Given the description of an element on the screen output the (x, y) to click on. 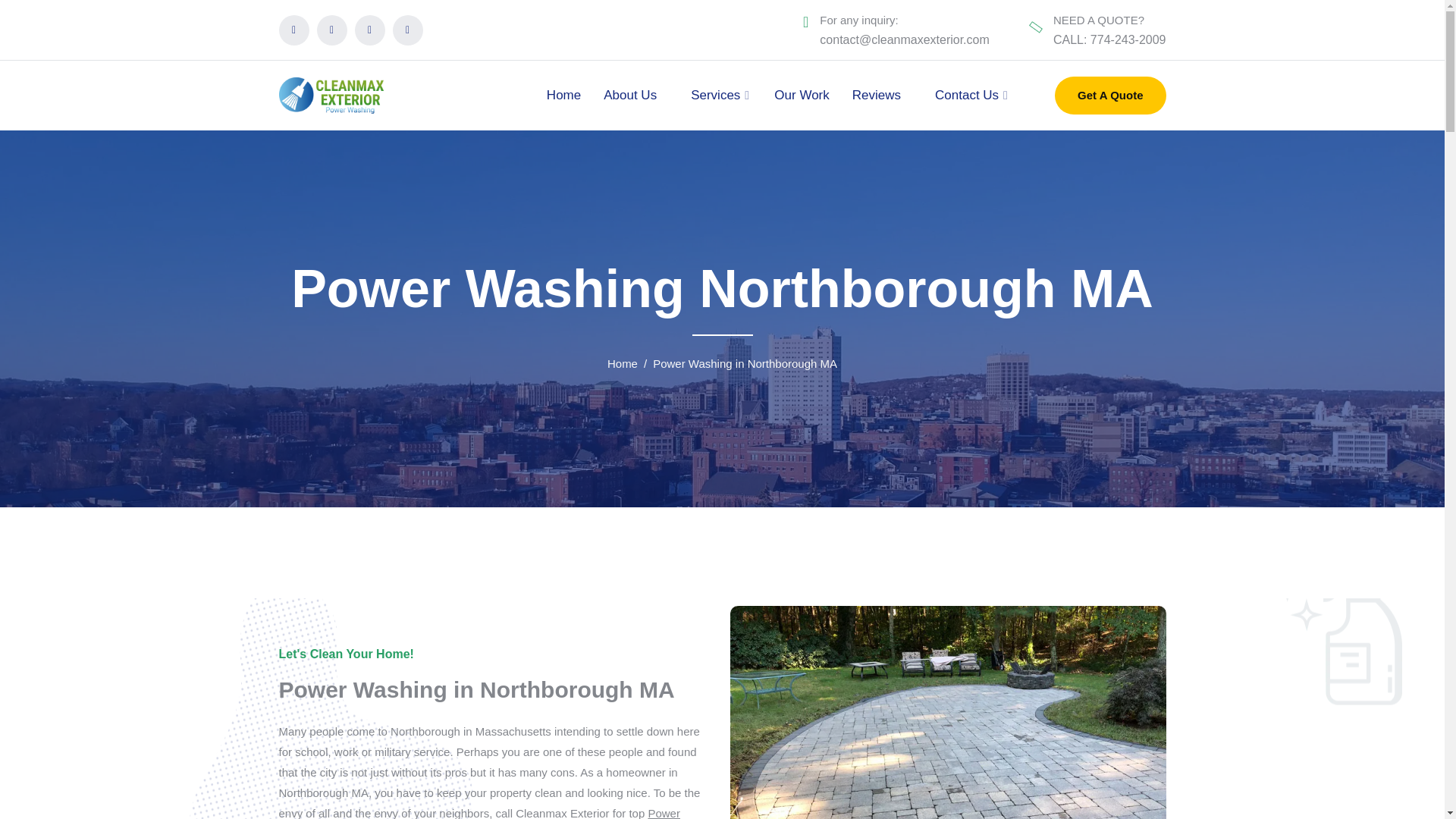
Instagram (370, 30)
Power Washing Northborough MA (479, 812)
Youtube (408, 30)
CleanMax Exterior Power Washing (331, 93)
Power Washing in Northborough MA (477, 689)
Twitter (332, 30)
Home (629, 362)
Contact Us (966, 95)
Get A Quote (1110, 95)
Facebook (293, 30)
